Given the description of an element on the screen output the (x, y) to click on. 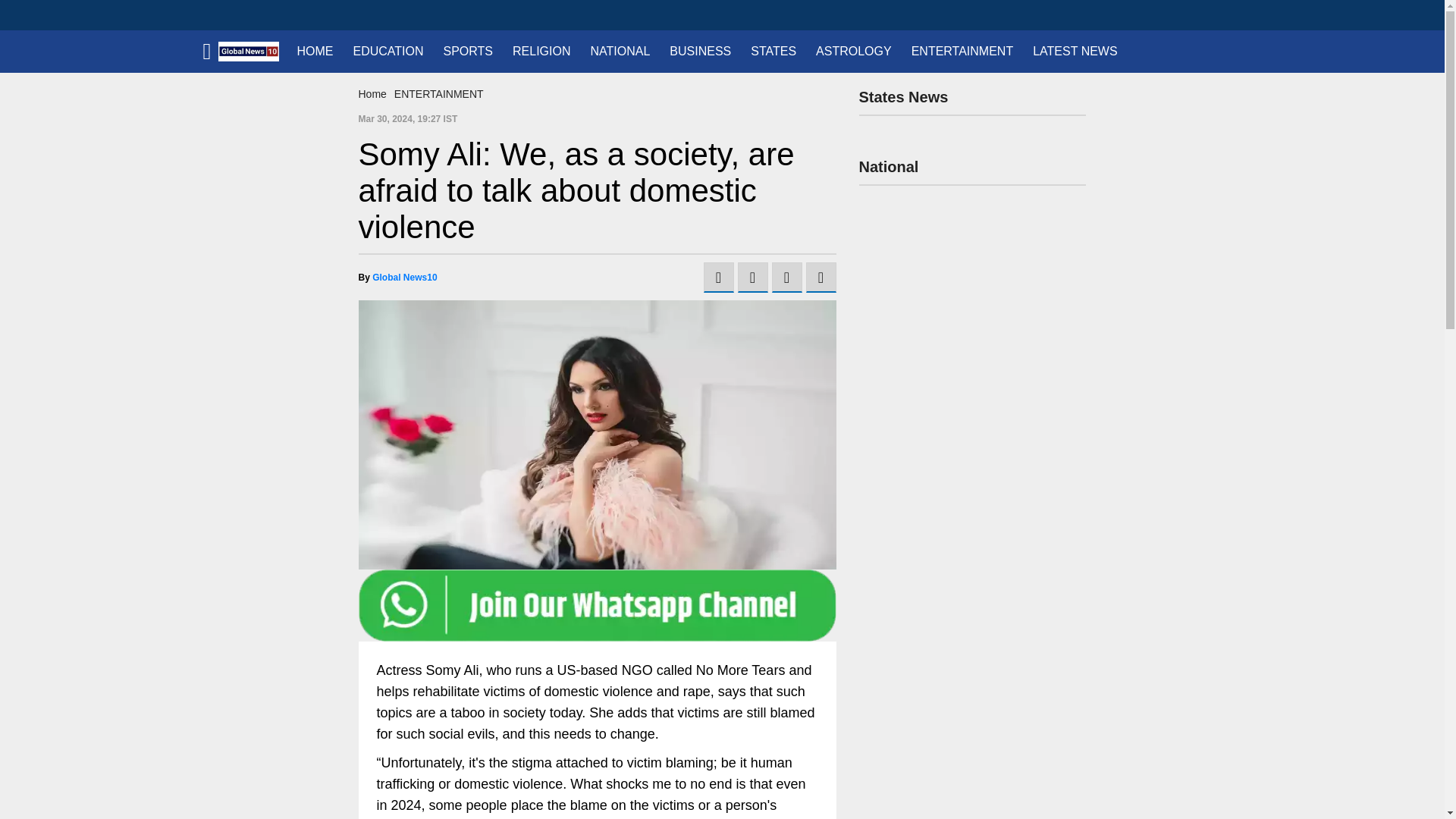
Rechercher (1229, 15)
Home (371, 93)
SPORTS (468, 51)
LATEST NEWS (1074, 51)
NATIONAL (619, 51)
ENTERTAINMENT (438, 93)
RELIGION (540, 51)
Rechercher (1229, 15)
STATES (773, 51)
ENTERTAINMENT (962, 51)
ASTROLOGY (853, 51)
BUSINESS (700, 51)
HOME (314, 51)
EDUCATION (387, 51)
Rechercher (1229, 15)
